Given the description of an element on the screen output the (x, y) to click on. 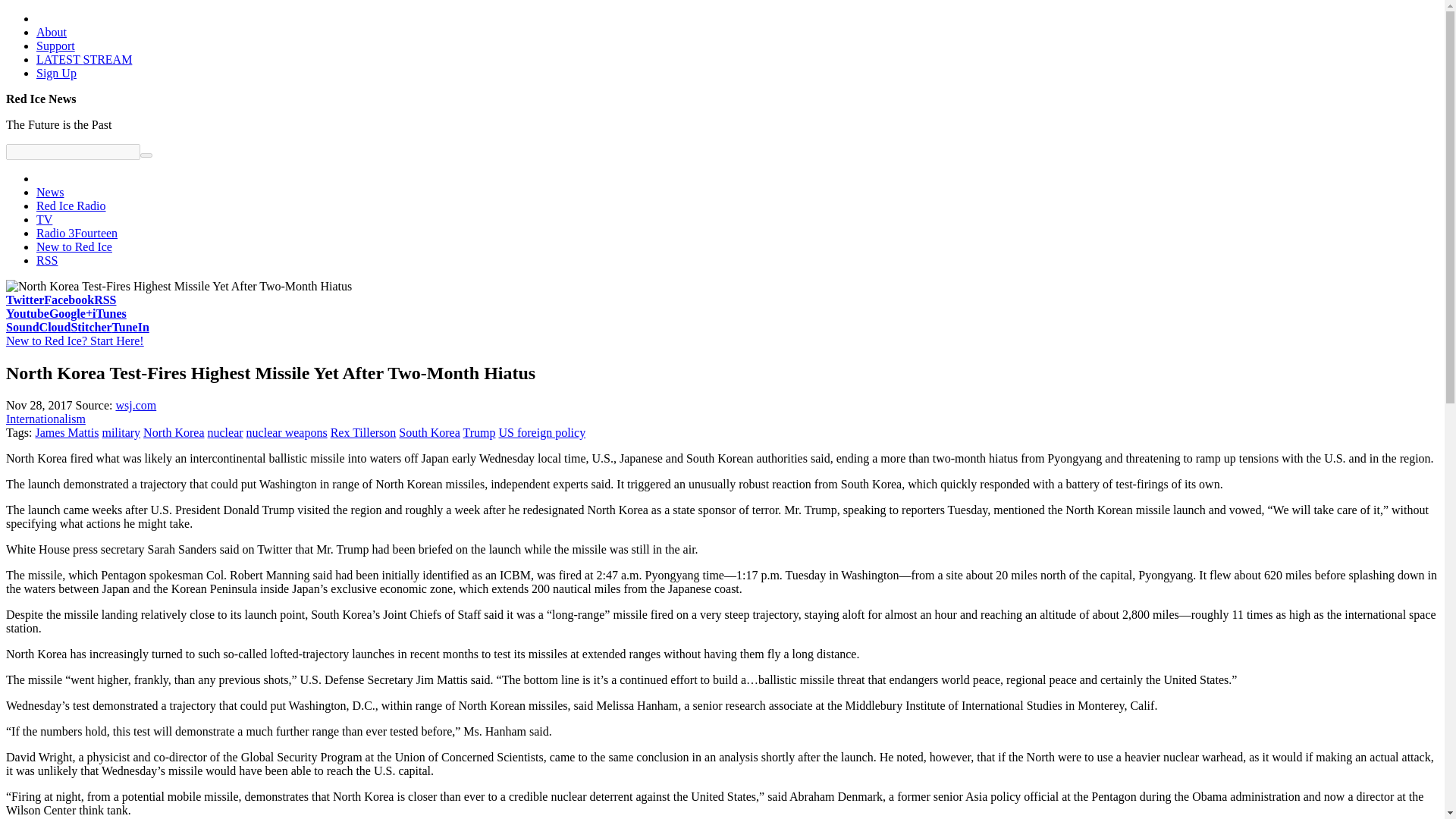
Internationalism (45, 418)
iTunes (109, 313)
nuclear weapons (286, 431)
Red Ice Radio (71, 205)
Facebook (68, 299)
TV (44, 219)
North Korea (172, 431)
military (120, 431)
Sign Up (56, 72)
TuneIn (130, 327)
Twitter (24, 299)
South Korea (429, 431)
wsj.com (135, 404)
Radio 3Fourteen (76, 232)
New to Red Ice (74, 246)
